Given the description of an element on the screen output the (x, y) to click on. 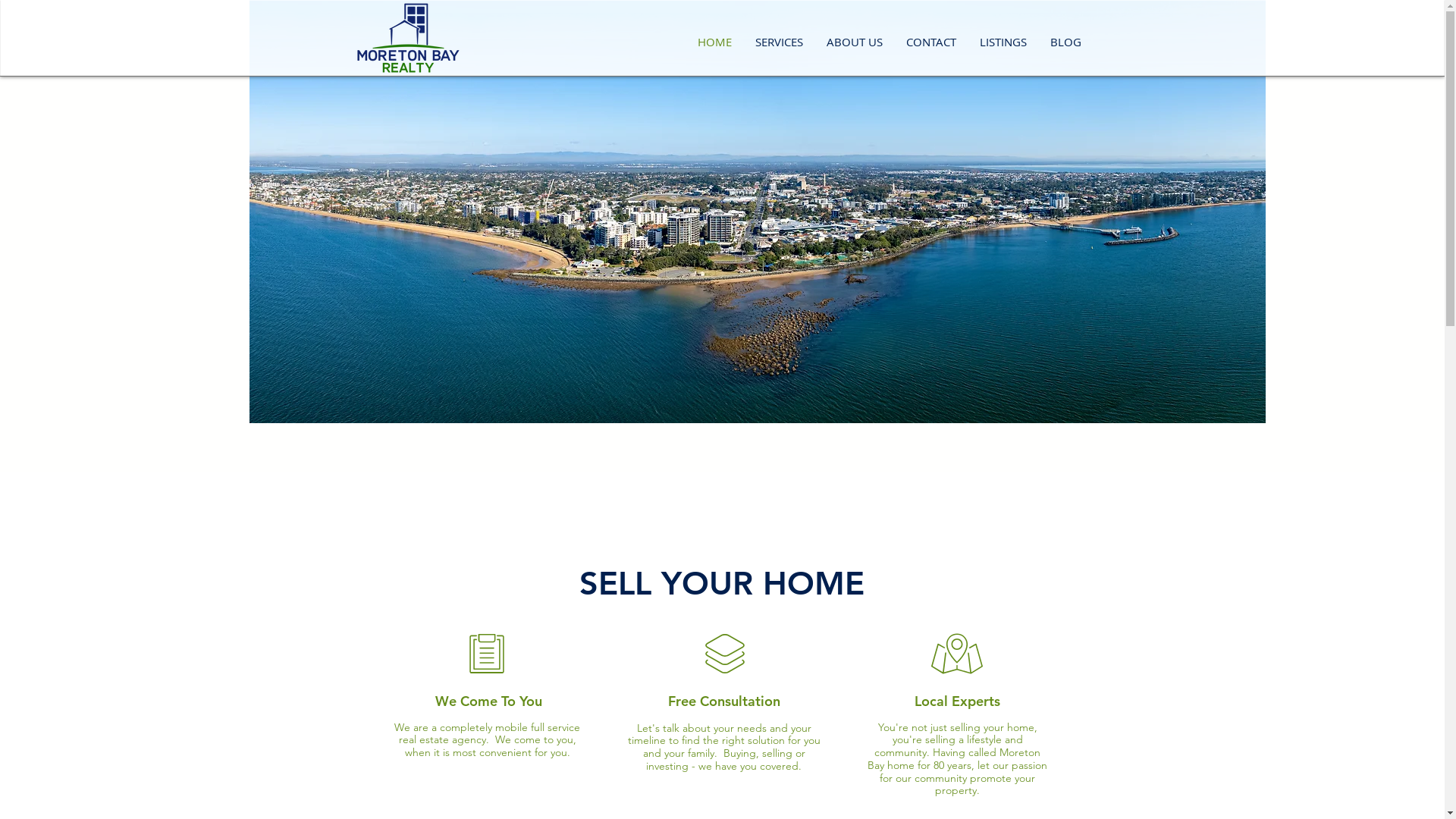
SERVICES Element type: text (778, 41)
Banner splash.png Element type: hover (756, 211)
HOME Element type: text (714, 41)
CONTACT Element type: text (931, 41)
BLOG Element type: text (1065, 41)
LISTINGS Element type: text (1002, 41)
